Given the description of an element on the screen output the (x, y) to click on. 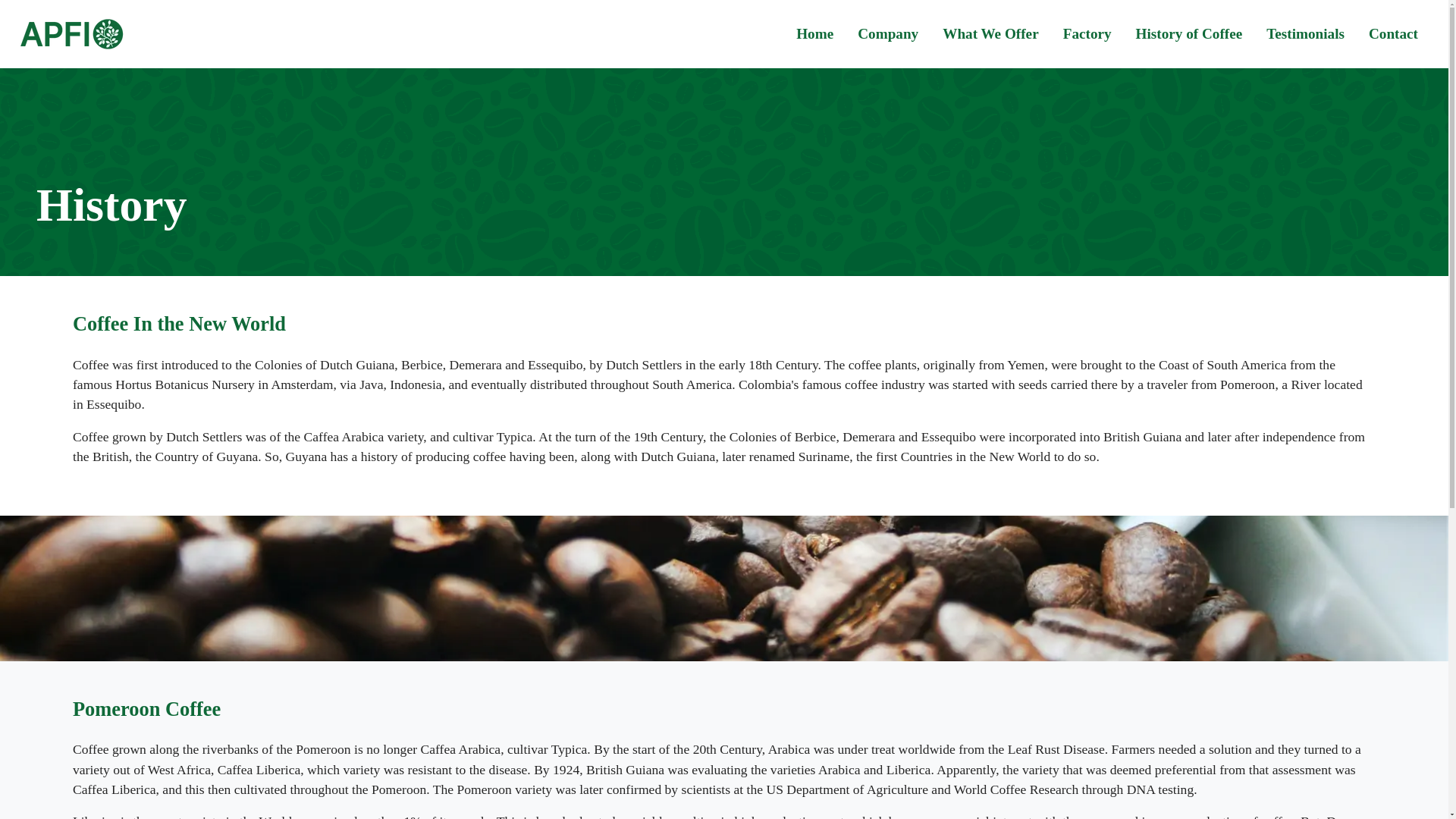
Company (887, 34)
Factory (1087, 34)
History of Coffee (1189, 34)
What We Offer (989, 34)
Testimonials (1305, 34)
Home (815, 34)
Contact (1392, 34)
